Given the description of an element on the screen output the (x, y) to click on. 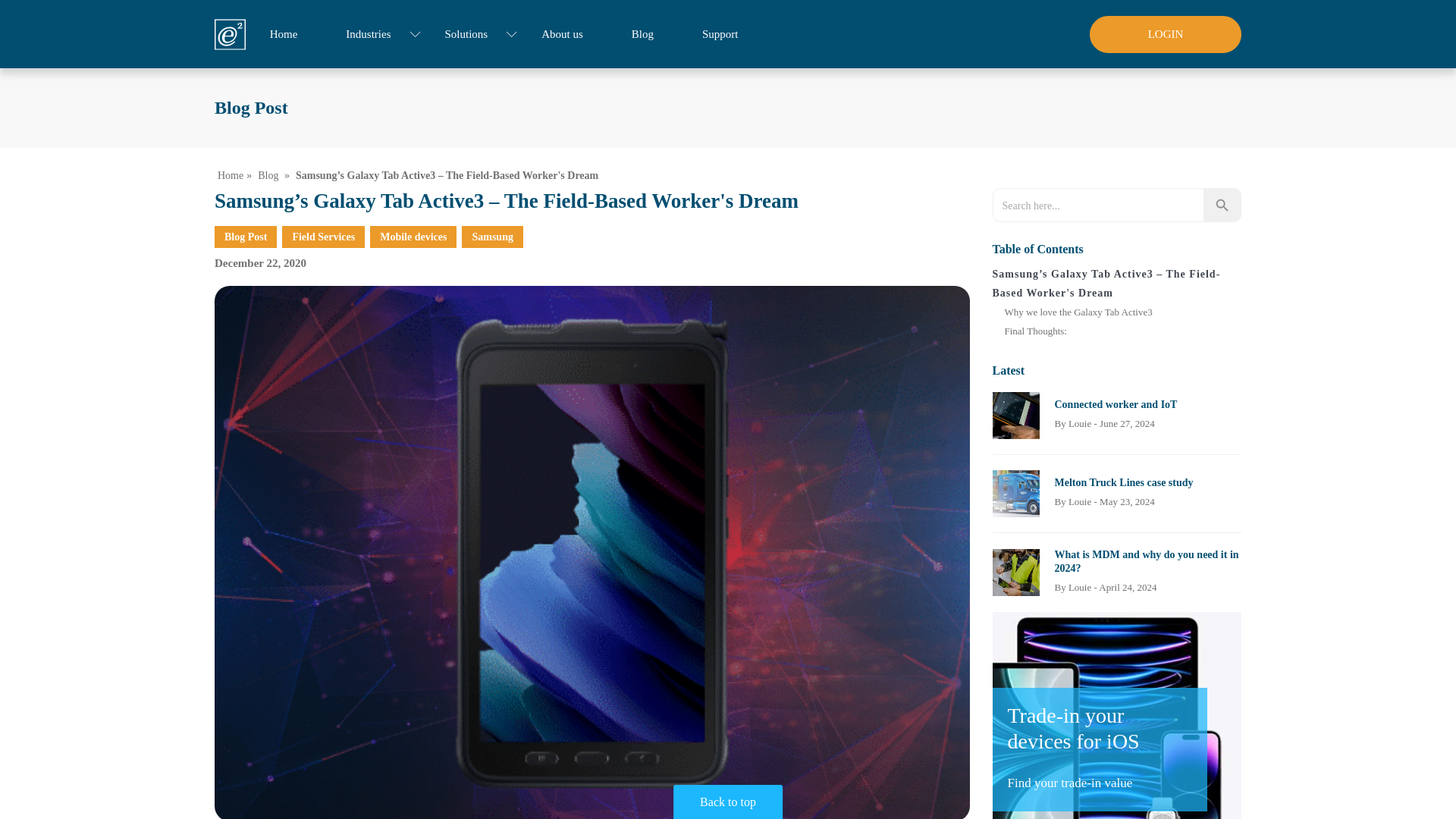
LOGIN (1165, 33)
About us (562, 33)
Blog (267, 174)
Industries (370, 33)
Home (229, 174)
Breadcrumb link to Blog (267, 174)
Solutions (469, 33)
